Given the description of an element on the screen output the (x, y) to click on. 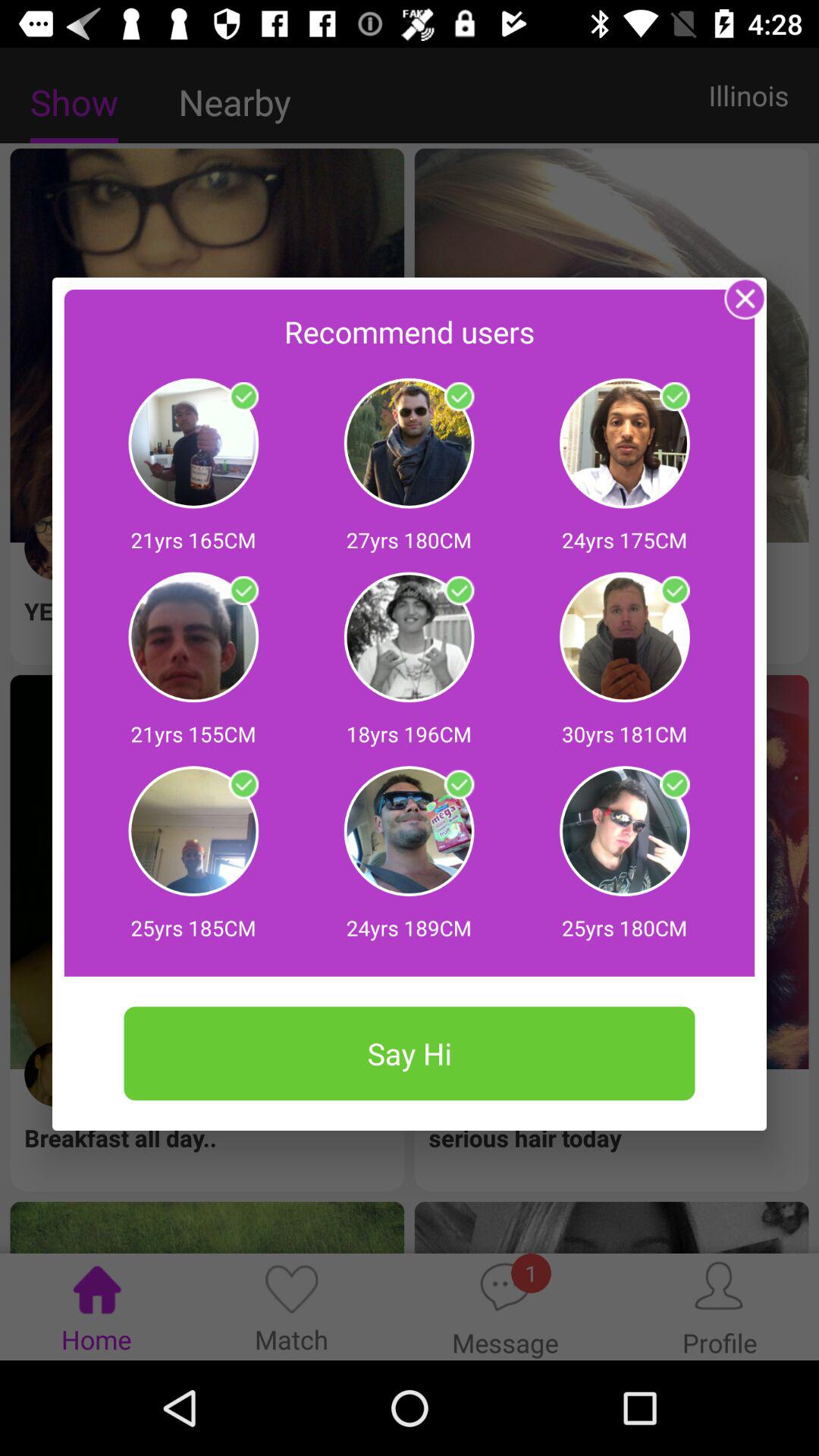
unchecked user (243, 784)
